Given the description of an element on the screen output the (x, y) to click on. 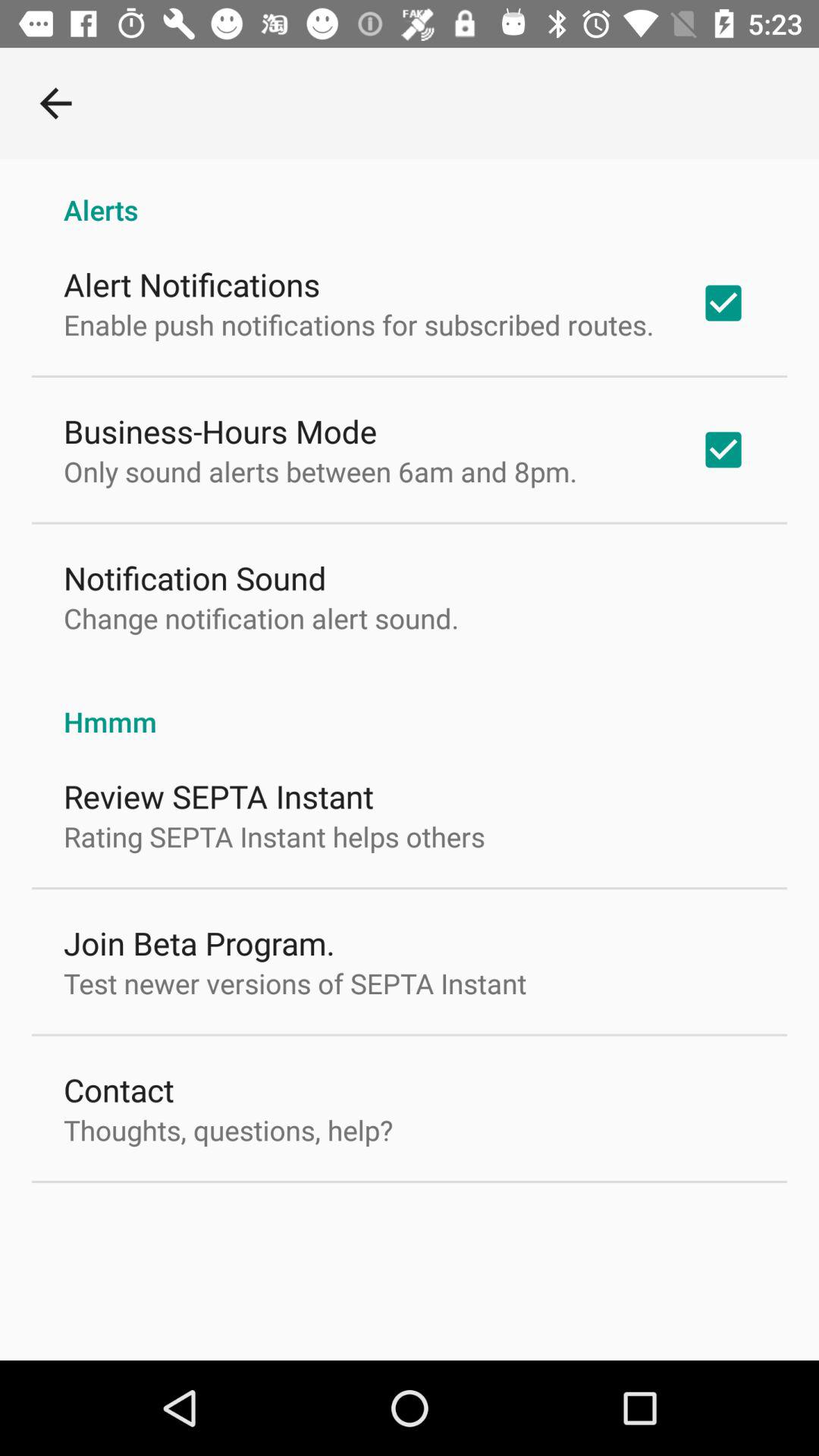
press item below alert notifications icon (358, 324)
